Given the description of an element on the screen output the (x, y) to click on. 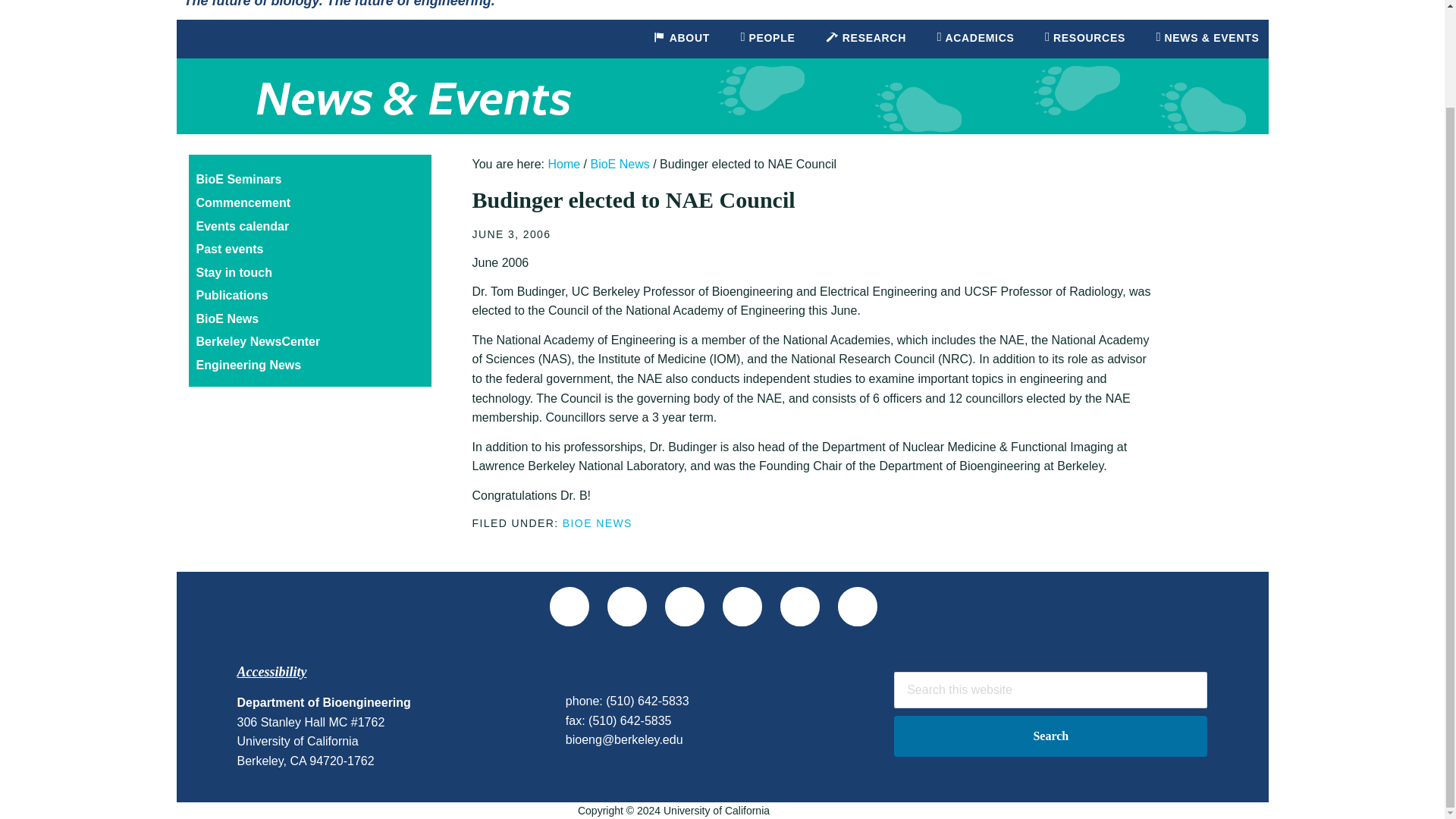
PEOPLE (766, 38)
Search (1050, 735)
ABOUT (681, 38)
Search (1050, 735)
ACADEMICS (974, 38)
RESEARCH (865, 38)
